Given the description of an element on the screen output the (x, y) to click on. 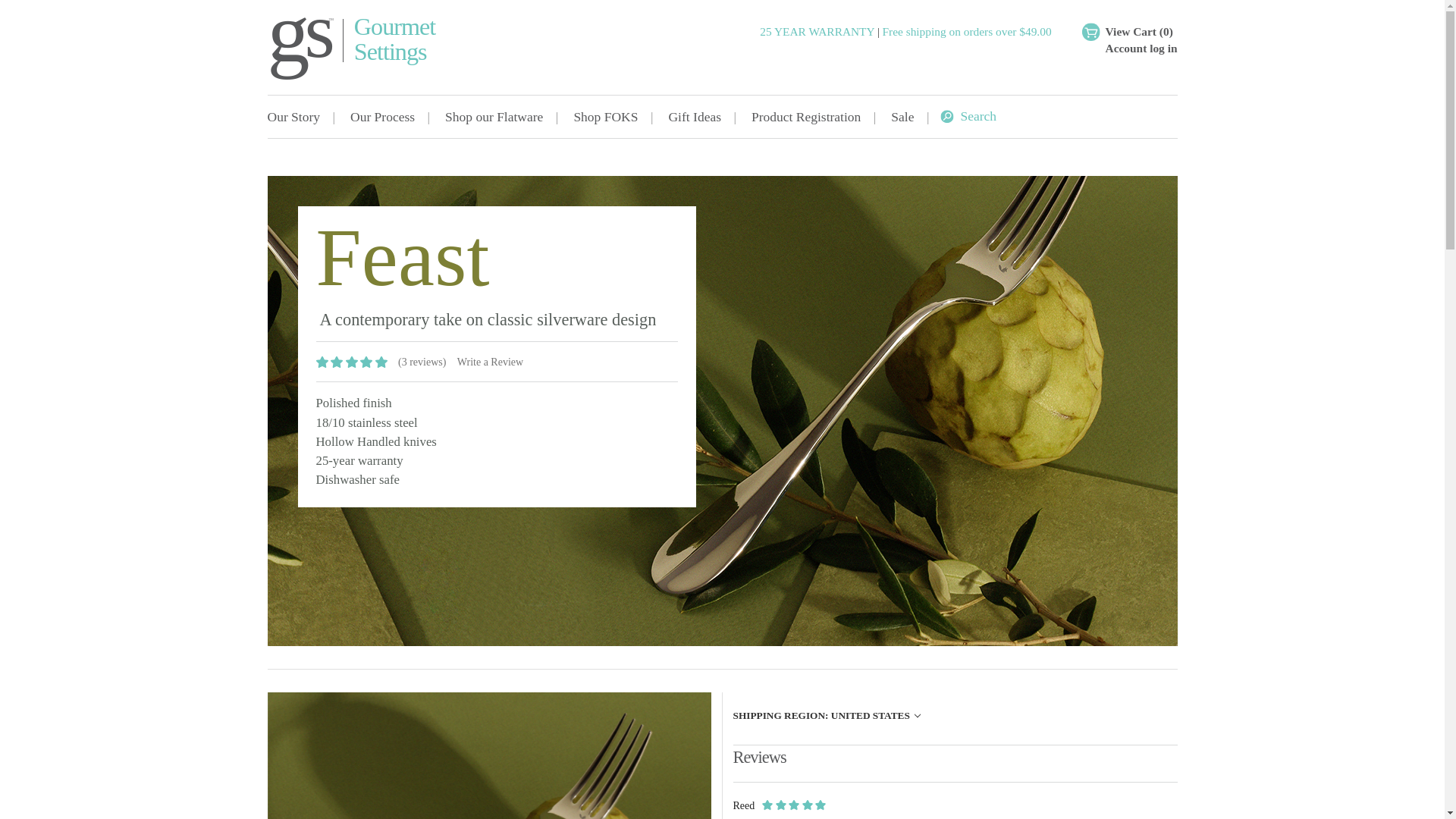
Account log in (1137, 47)
Product Registration (806, 116)
Shop our Flatware (493, 116)
Sale (902, 116)
alternative (488, 755)
Shop FOKS (386, 47)
25 YEAR WARRANTY (604, 116)
Our Process (817, 31)
Our Story (381, 116)
Gift Ideas (300, 116)
